Given the description of an element on the screen output the (x, y) to click on. 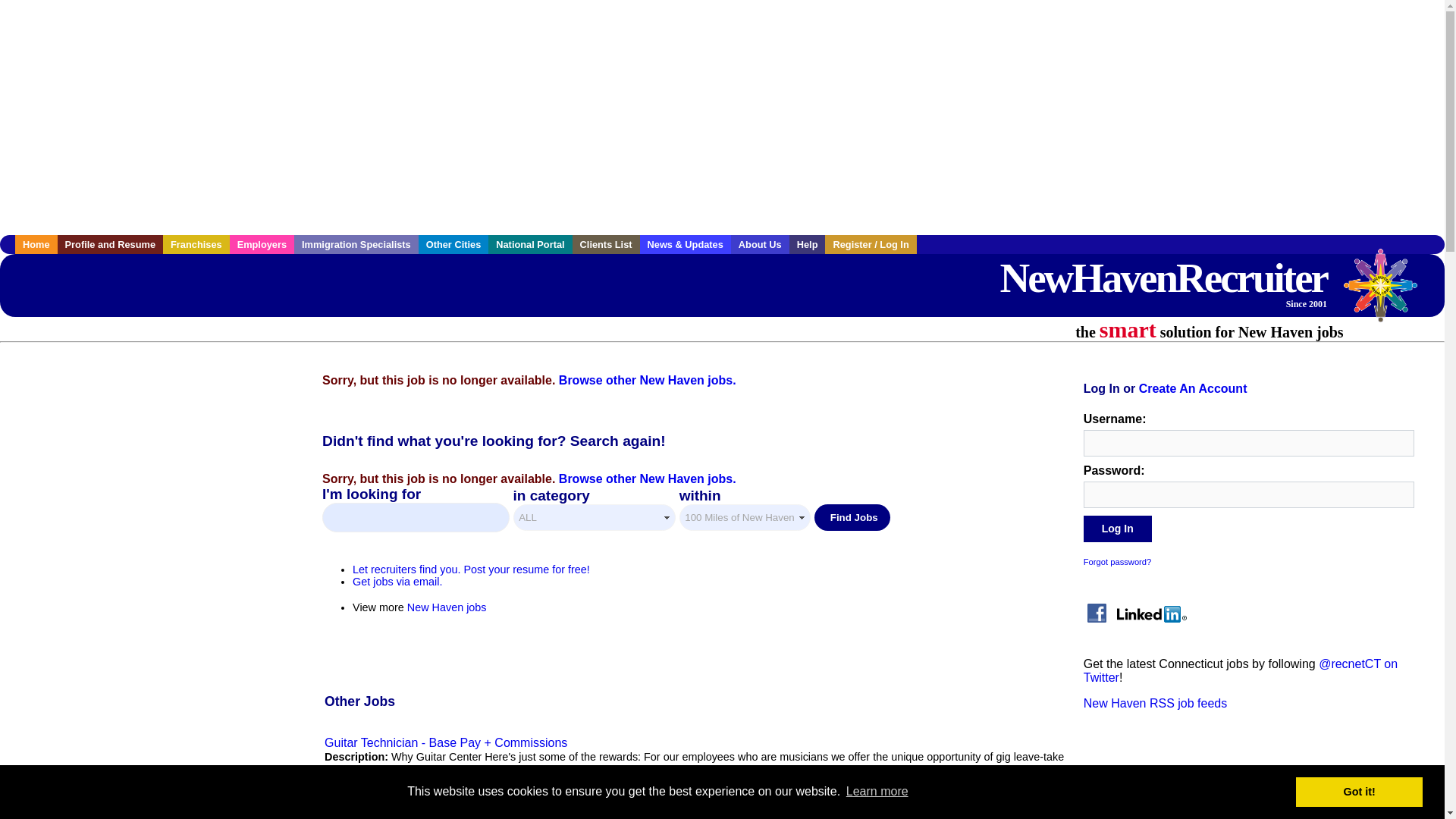
Learn more (877, 791)
Forgot password? (1117, 561)
New Haven  help (807, 244)
Clients List (606, 244)
Recruiter Media, Inc. (1162, 280)
National Portal (1387, 292)
Got it! (529, 244)
Log In (1358, 791)
Find Jobs (1117, 528)
Profile and Resume (851, 517)
New Haven  home (110, 244)
Log In (36, 244)
Advertisement (1117, 528)
